Given the description of an element on the screen output the (x, y) to click on. 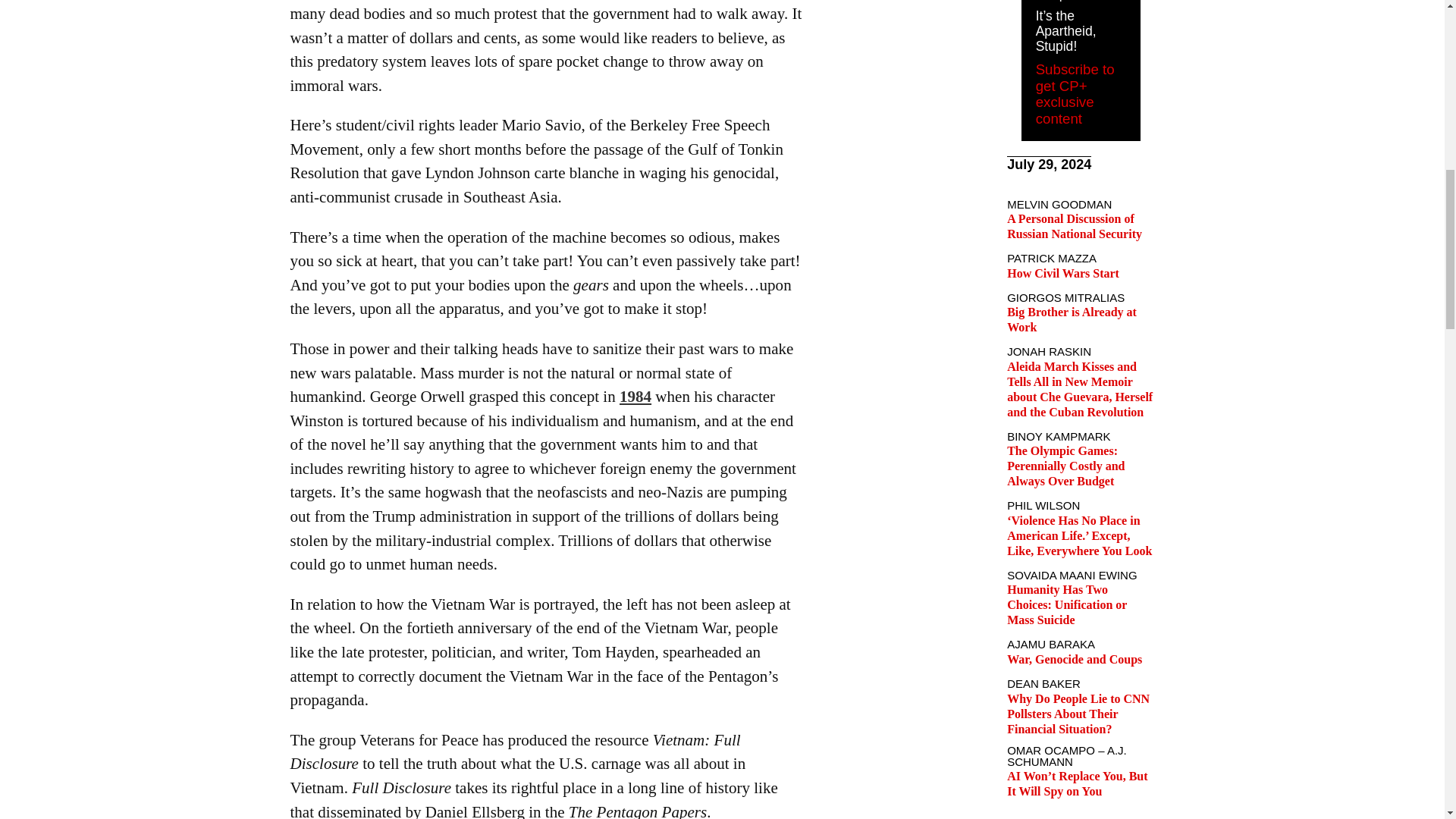
1984 (635, 396)
